Given the description of an element on the screen output the (x, y) to click on. 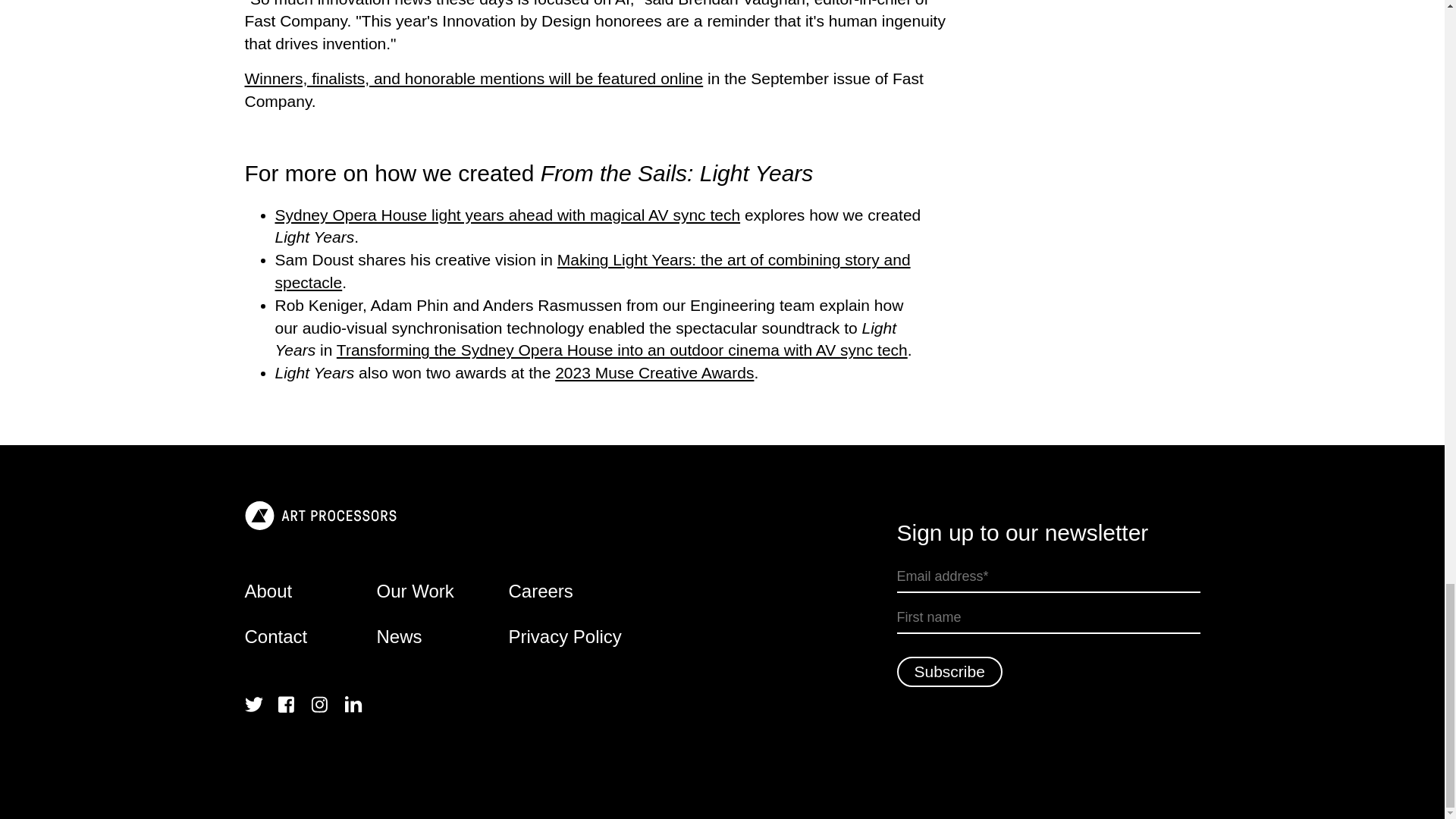
2023 Muse Creative Awards (654, 372)
Subscribe (948, 671)
Subscribe (948, 671)
Careers (574, 590)
About (309, 590)
Privacy Policy (574, 636)
Our Work (441, 590)
News (441, 636)
Contact (309, 636)
Making Light Years: the art of combining story and spectacle (592, 270)
